Given the description of an element on the screen output the (x, y) to click on. 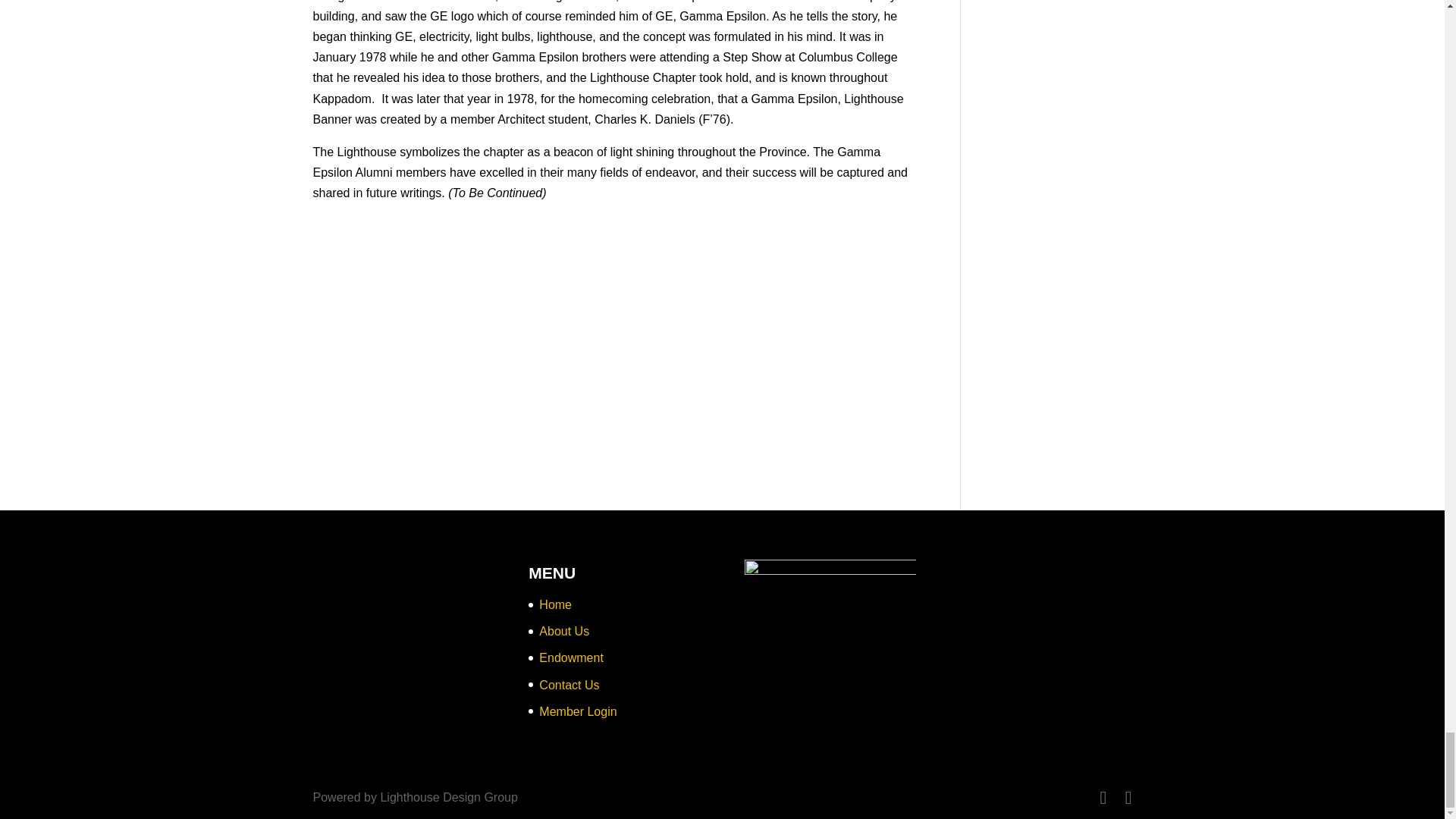
Home (555, 604)
Member Login (576, 711)
About Us (563, 631)
Endowment (571, 657)
Contact Us (568, 684)
